Given the description of an element on the screen output the (x, y) to click on. 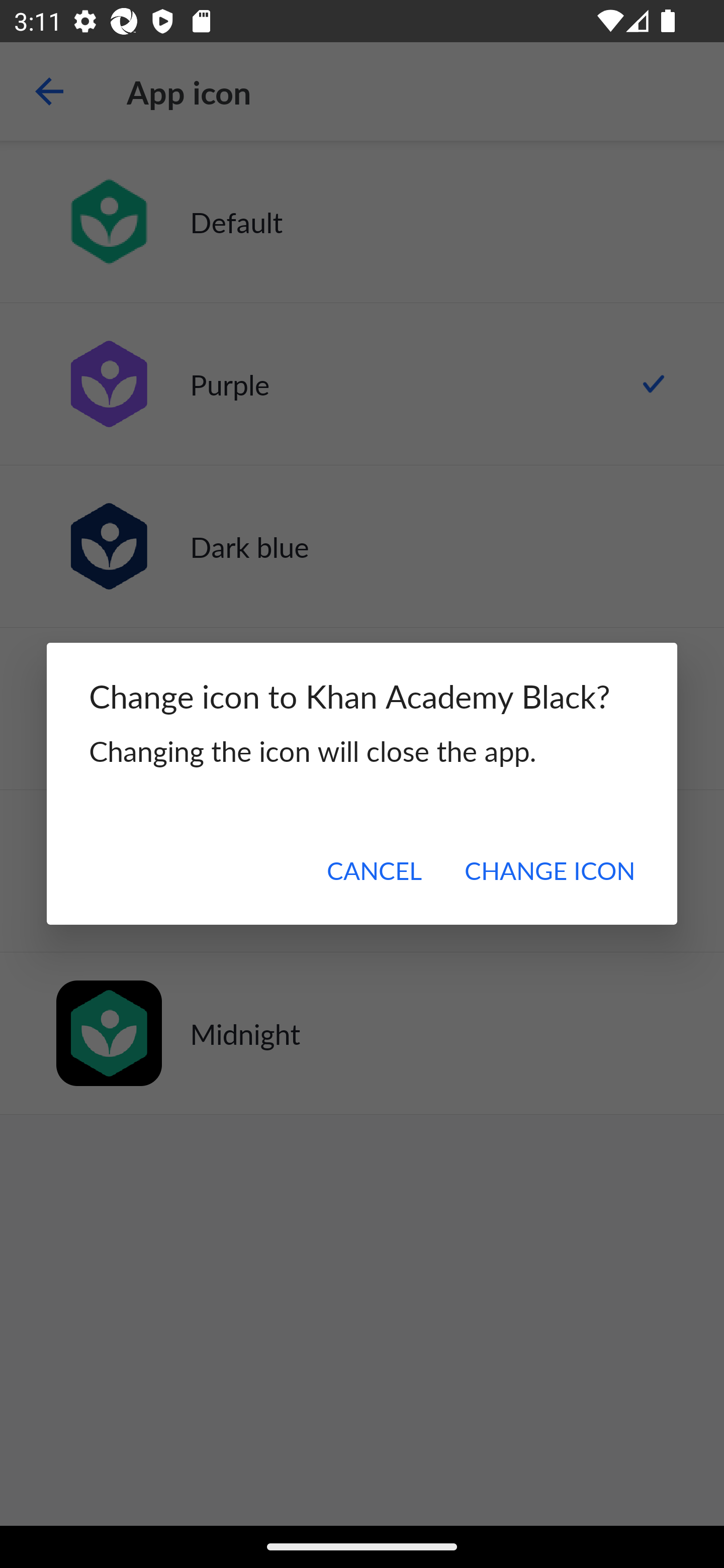
CANCEL (374, 870)
CHANGE ICON (549, 870)
